Given the description of an element on the screen output the (x, y) to click on. 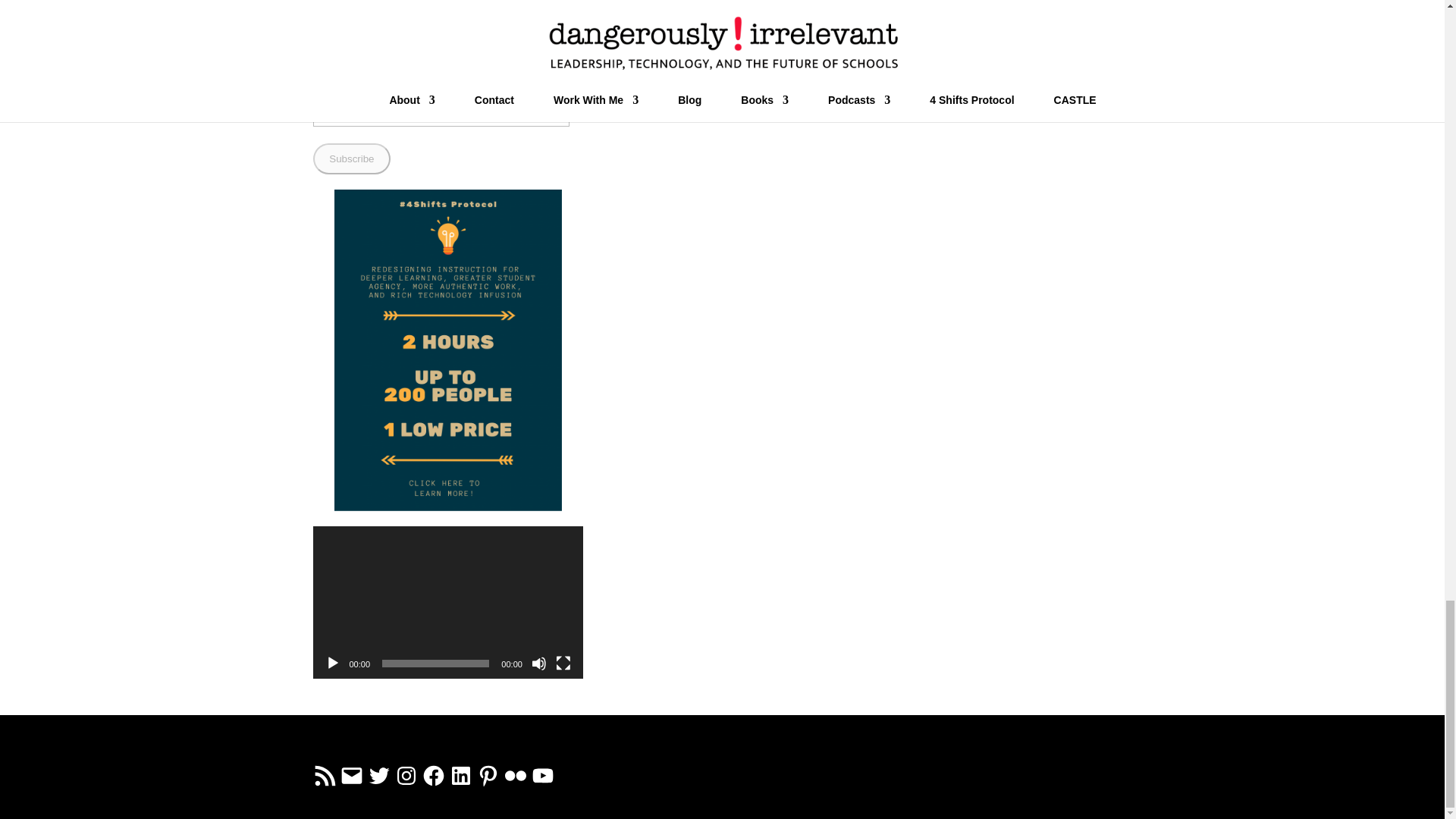
Play (331, 663)
Mute (539, 663)
Fullscreen (563, 663)
